Given the description of an element on the screen output the (x, y) to click on. 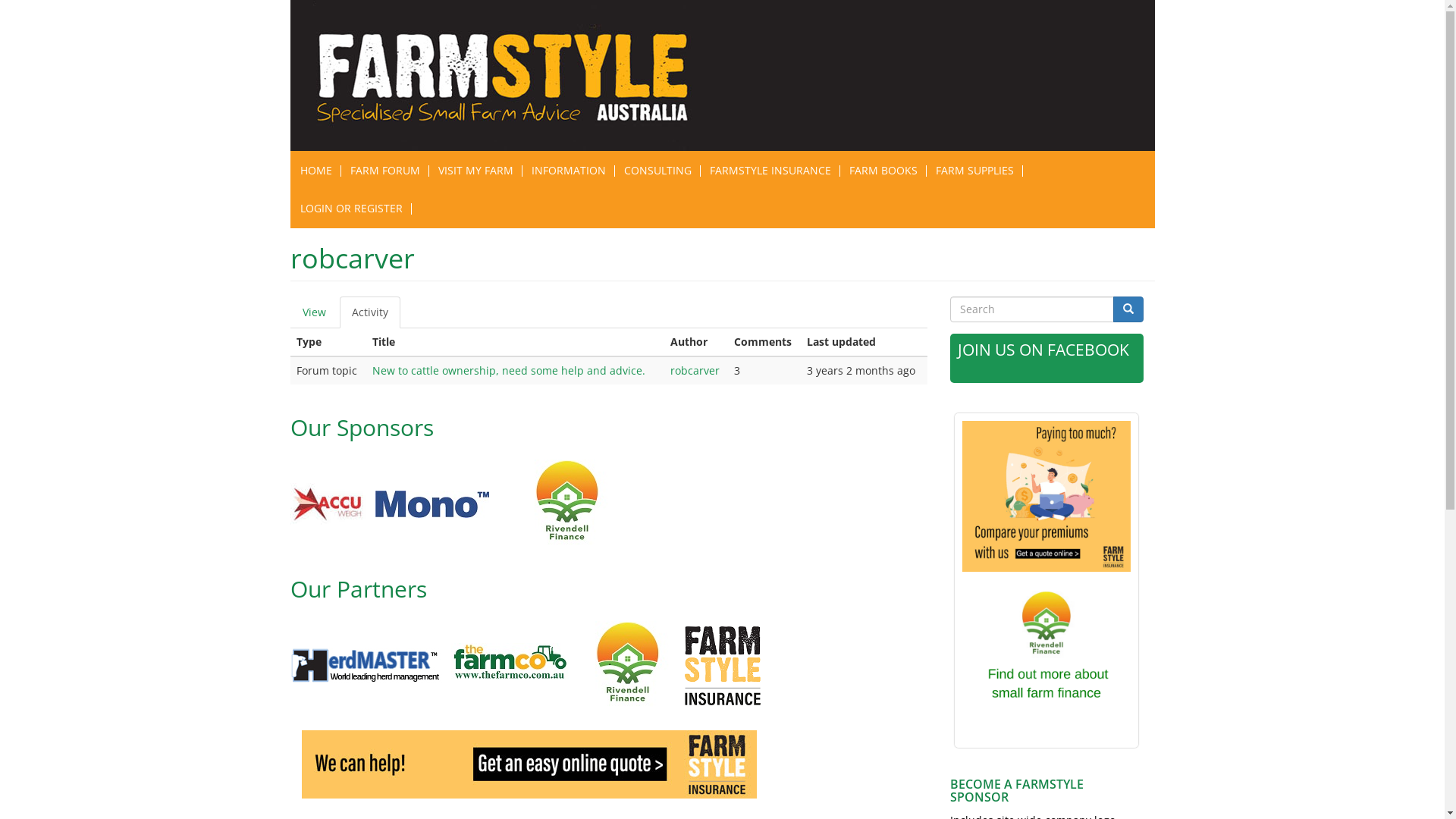
FARM FORUM Element type: text (385, 170)
VISIT MY FARM Element type: text (475, 170)
FARM SUPPLIES Element type: text (974, 170)
JOIN US ON FACEBOOK Element type: text (1042, 349)
FARM BOOKS Element type: text (883, 170)
HOME Element type: text (316, 170)
Skip to main content Element type: text (0, 0)
FARMSTYLE INSURANCE Element type: text (770, 170)
View Element type: text (313, 312)
Search Element type: text (1128, 309)
Activity
(active tab) Element type: text (369, 312)
INFORMATION Element type: text (567, 170)
LOGIN OR REGISTER Element type: text (351, 208)
CONSULTING Element type: text (656, 170)
robcarver Element type: text (694, 370)
New to cattle ownership, need some help and advice. Element type: text (508, 370)
Home Element type: hover (511, 75)
